Given the description of an element on the screen output the (x, y) to click on. 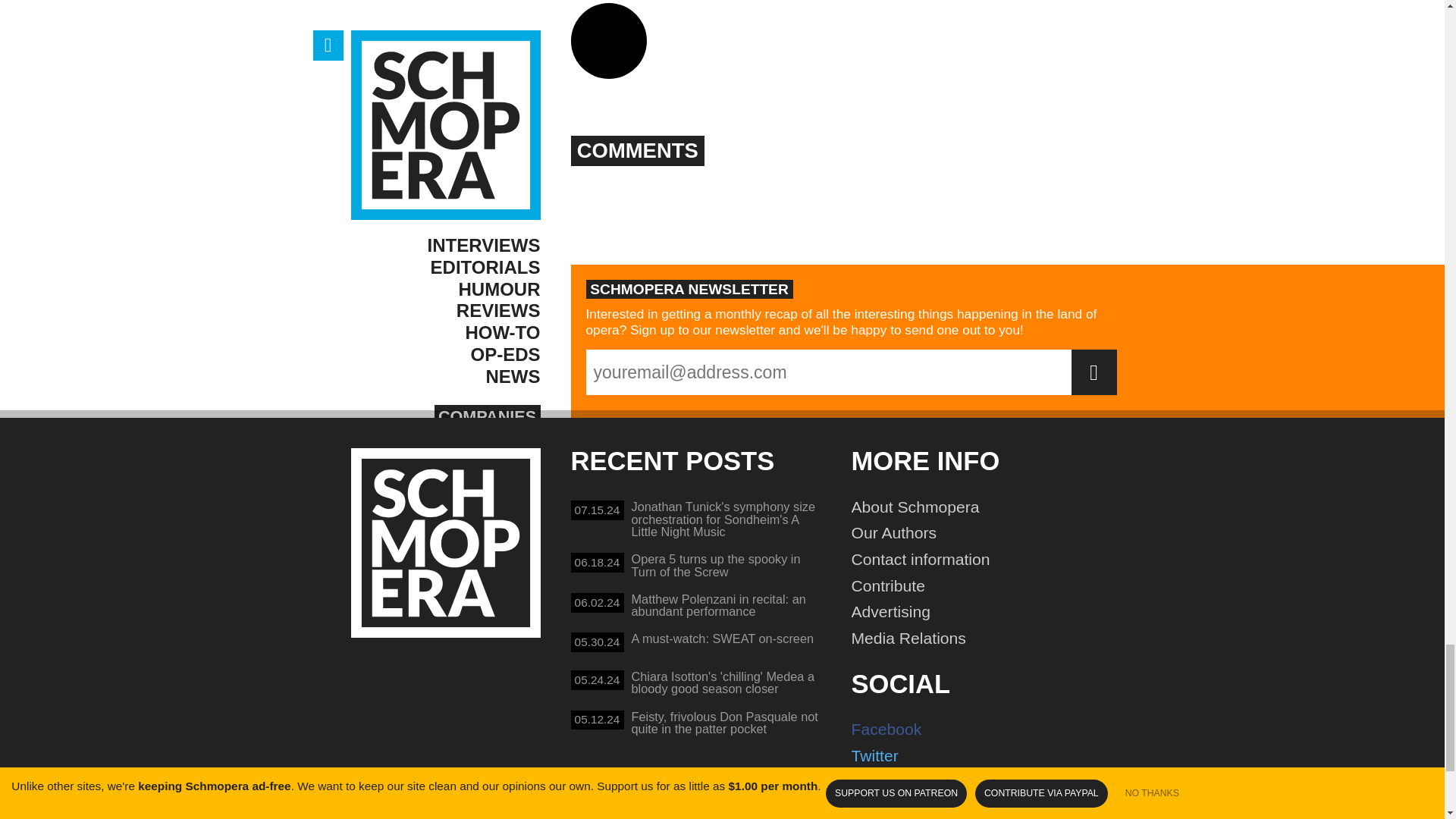
Media Relations (990, 637)
Twitter (990, 755)
About Schmopera (990, 507)
Advertising (990, 611)
Back to home page (696, 645)
Contribute (445, 542)
Contact information (696, 566)
Our Authors (990, 585)
Facebook (990, 560)
